Given the description of an element on the screen output the (x, y) to click on. 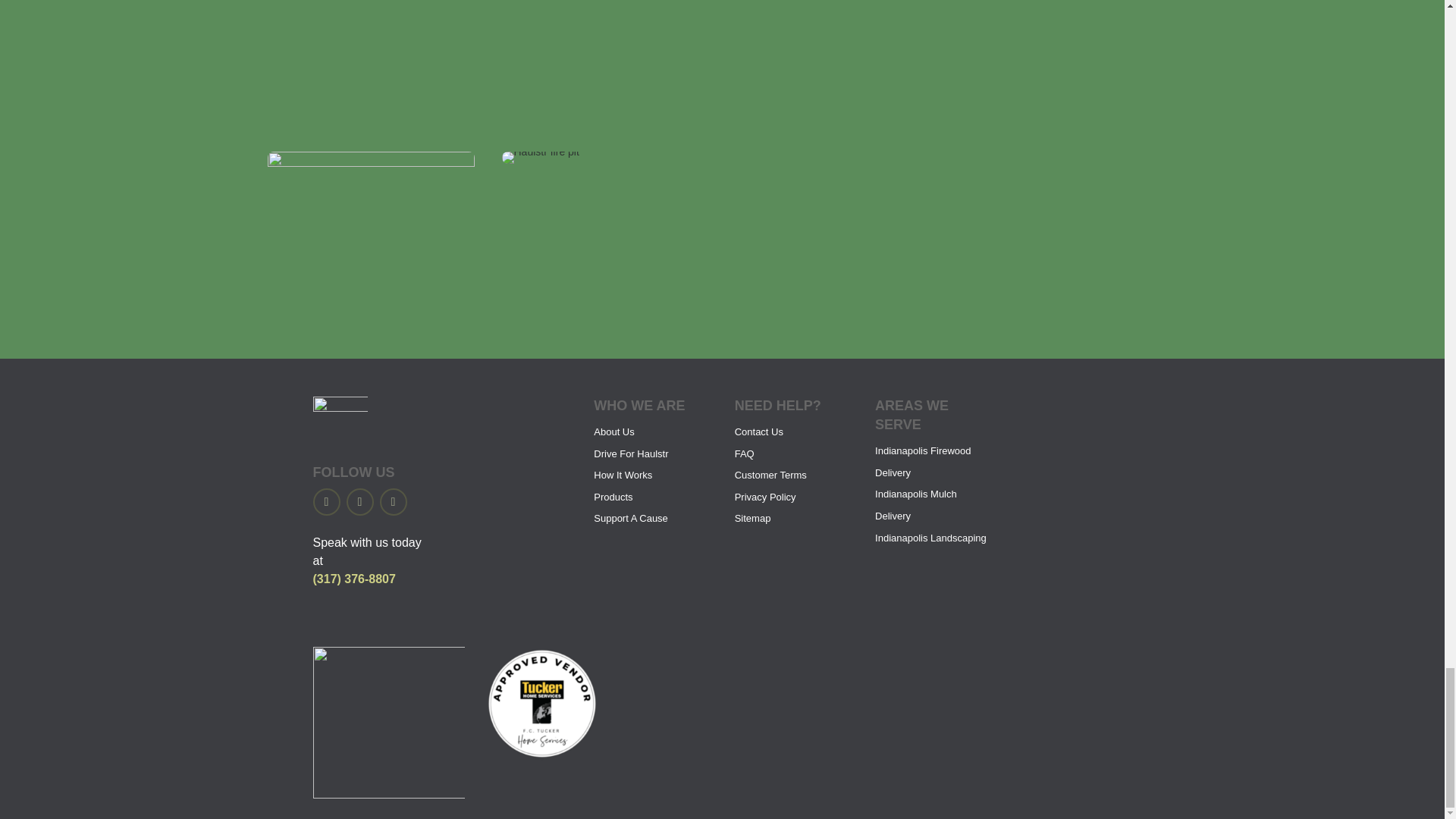
Haulstr (370, 162)
Follow on Twitter (392, 501)
Follow on Instagram (359, 501)
Follow on Facebook (326, 501)
Give us a call! (353, 578)
Haulstr (540, 151)
NS-Pro Member Badge-Updated 7-8-24-LIGHT (388, 794)
